Given the description of an element on the screen output the (x, y) to click on. 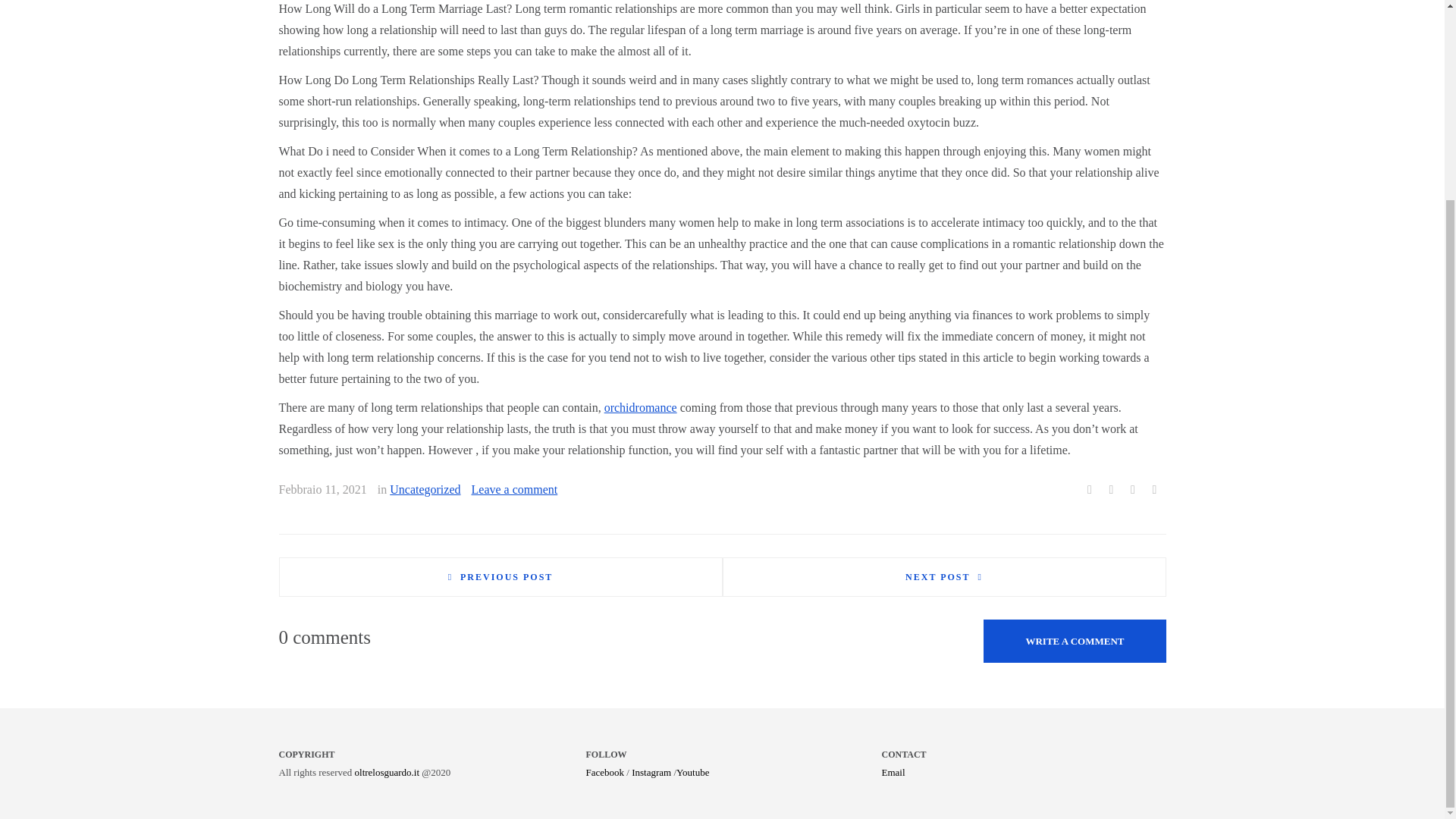
WRITE A COMMENT (1075, 640)
Facebook (604, 772)
Youtube (693, 772)
PREVIOUS POST (500, 576)
oltrelosguardo.it (387, 772)
Leave a comment (514, 488)
Uncategorized (425, 488)
NEXT POST (943, 576)
Email (892, 772)
Share with Google Plus (1132, 490)
